Given the description of an element on the screen output the (x, y) to click on. 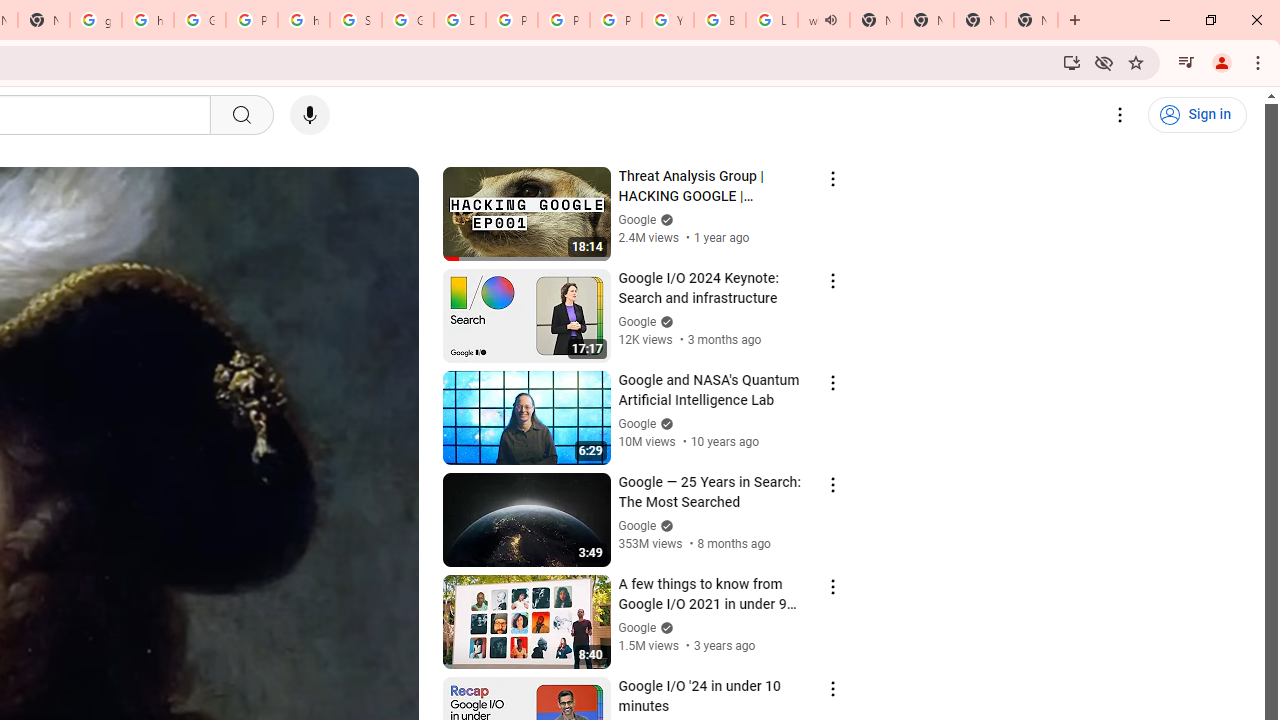
Install YouTube (1071, 62)
Privacy Help Center - Policies Help (563, 20)
New Tab (1032, 20)
